Given the description of an element on the screen output the (x, y) to click on. 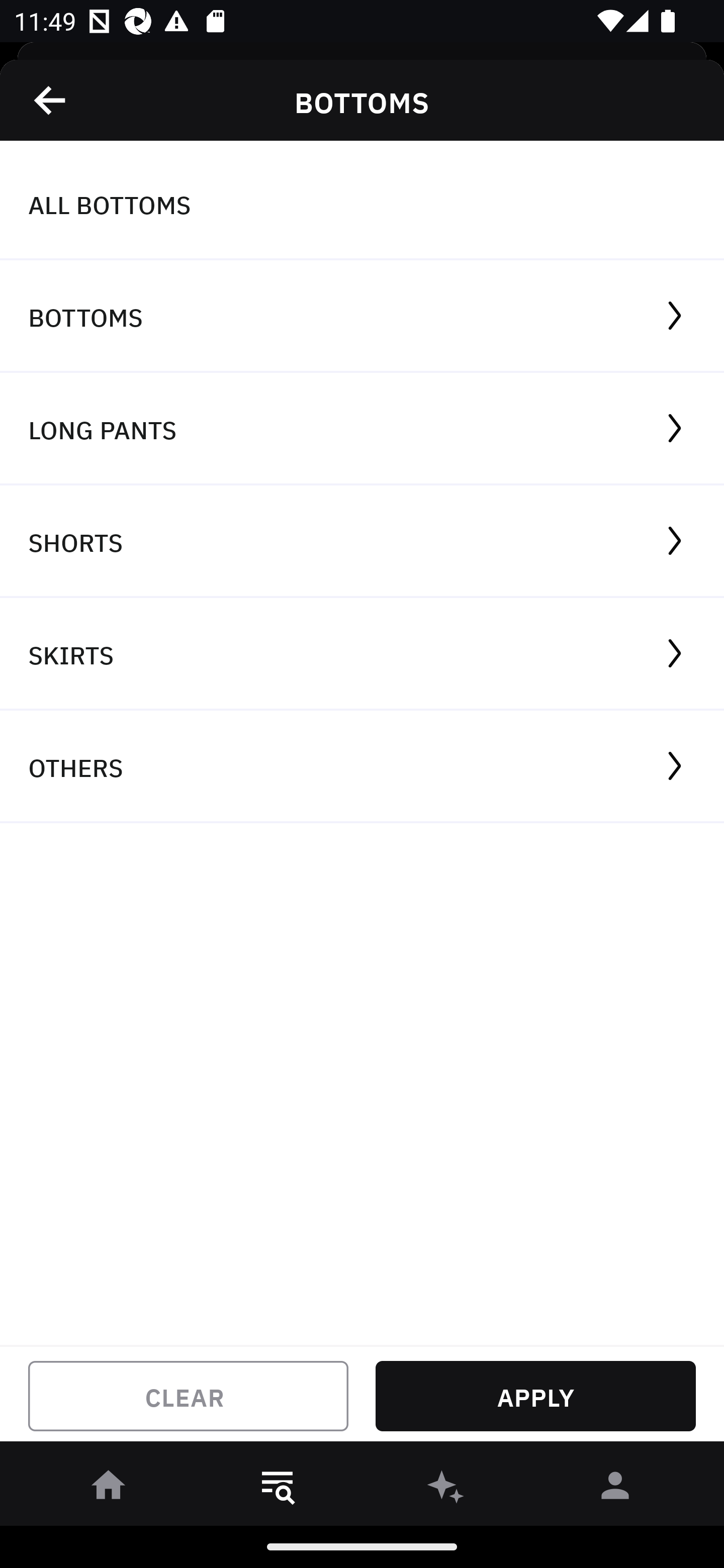
 (50, 100)
ALL BOTTOMS (362, 203)
BOTTOMS (362, 316)
LONG PANTS (362, 429)
SHORTS (362, 541)
SKIRTS (362, 653)
OTHERS (362, 766)
CLEAR  (188, 1396)
APPLY (535, 1396)
󰋜 (108, 1488)
󱎸 (277, 1488)
󰫢 (446, 1488)
󰀄 (615, 1488)
